Given the description of an element on the screen output the (x, y) to click on. 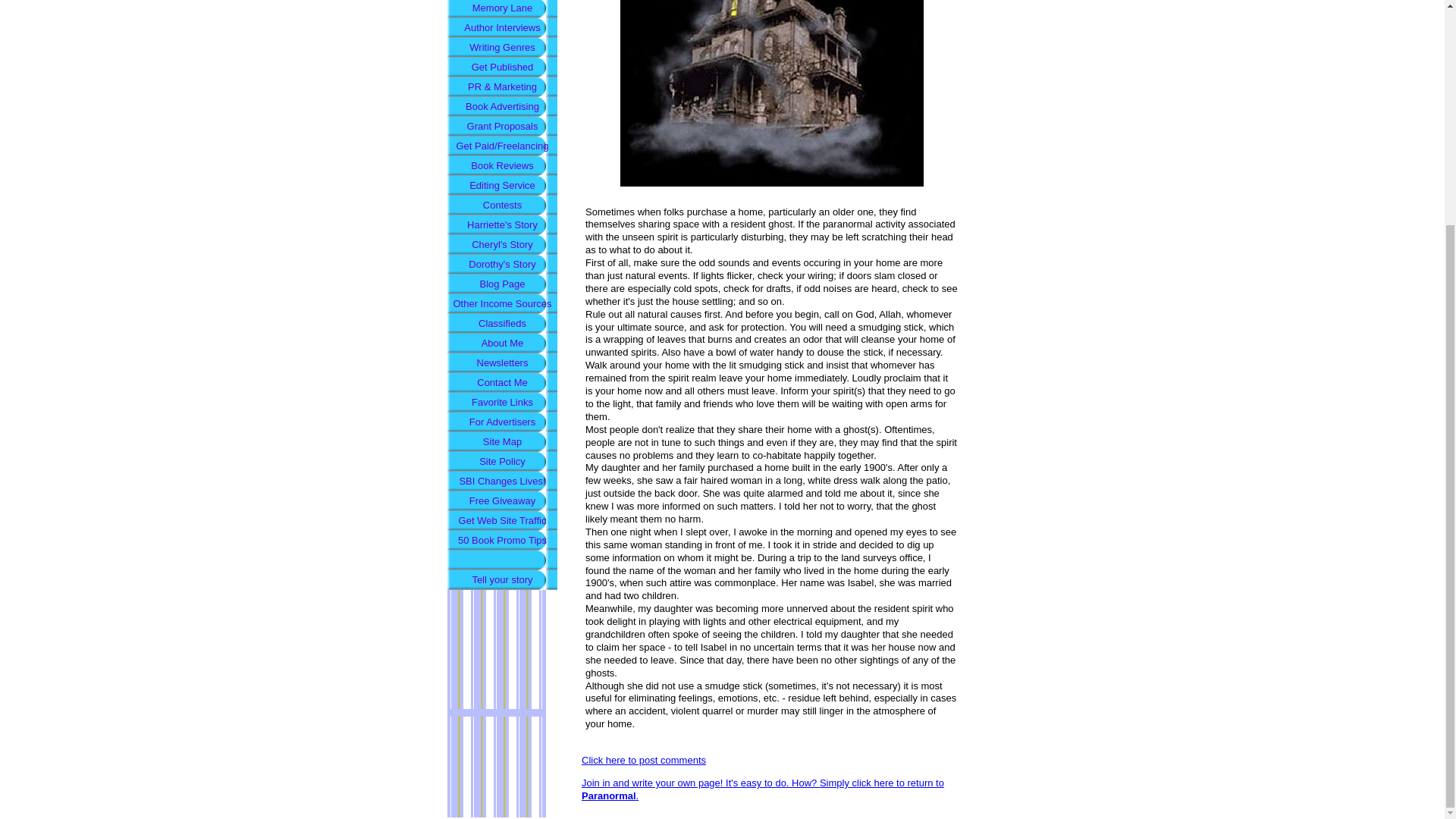
Site Policy (501, 461)
Grant Proposals (501, 126)
50 Book Promo Tips (501, 540)
SBI Changes Lives! (501, 481)
Tell your story (501, 579)
Get Published (501, 66)
Newsletters (501, 362)
Writing Genres (501, 47)
Other Income Sources (501, 303)
For Advertisers (501, 422)
